Given the description of an element on the screen output the (x, y) to click on. 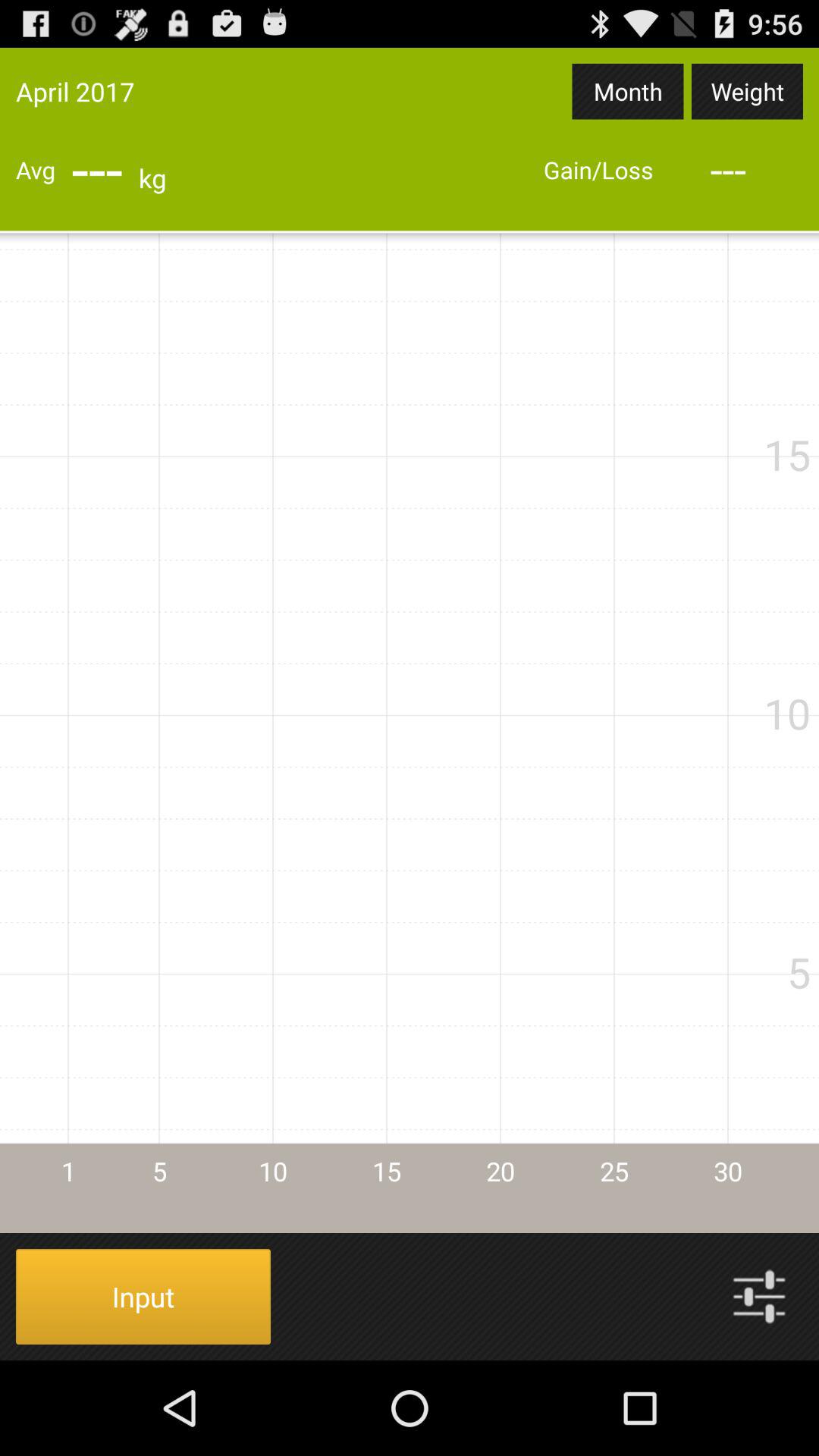
select the icon to the left of the weight app (627, 91)
